Given the description of an element on the screen output the (x, y) to click on. 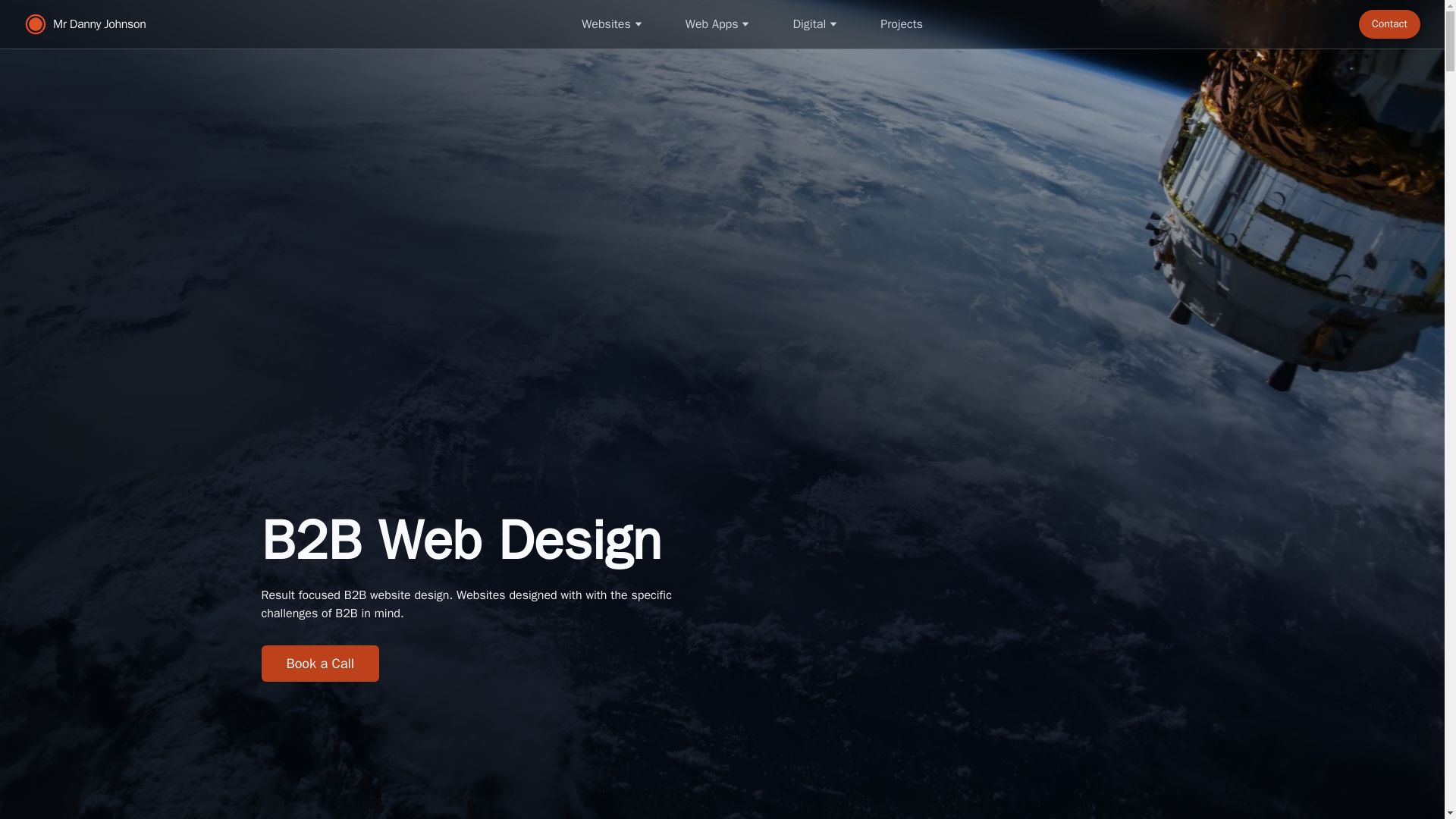
Contact (1389, 23)
Web Apps (717, 24)
Websites (612, 24)
Digital (815, 24)
Mr Danny Johnson (84, 24)
Book a Call (319, 663)
Projects (900, 24)
